Given the description of an element on the screen output the (x, y) to click on. 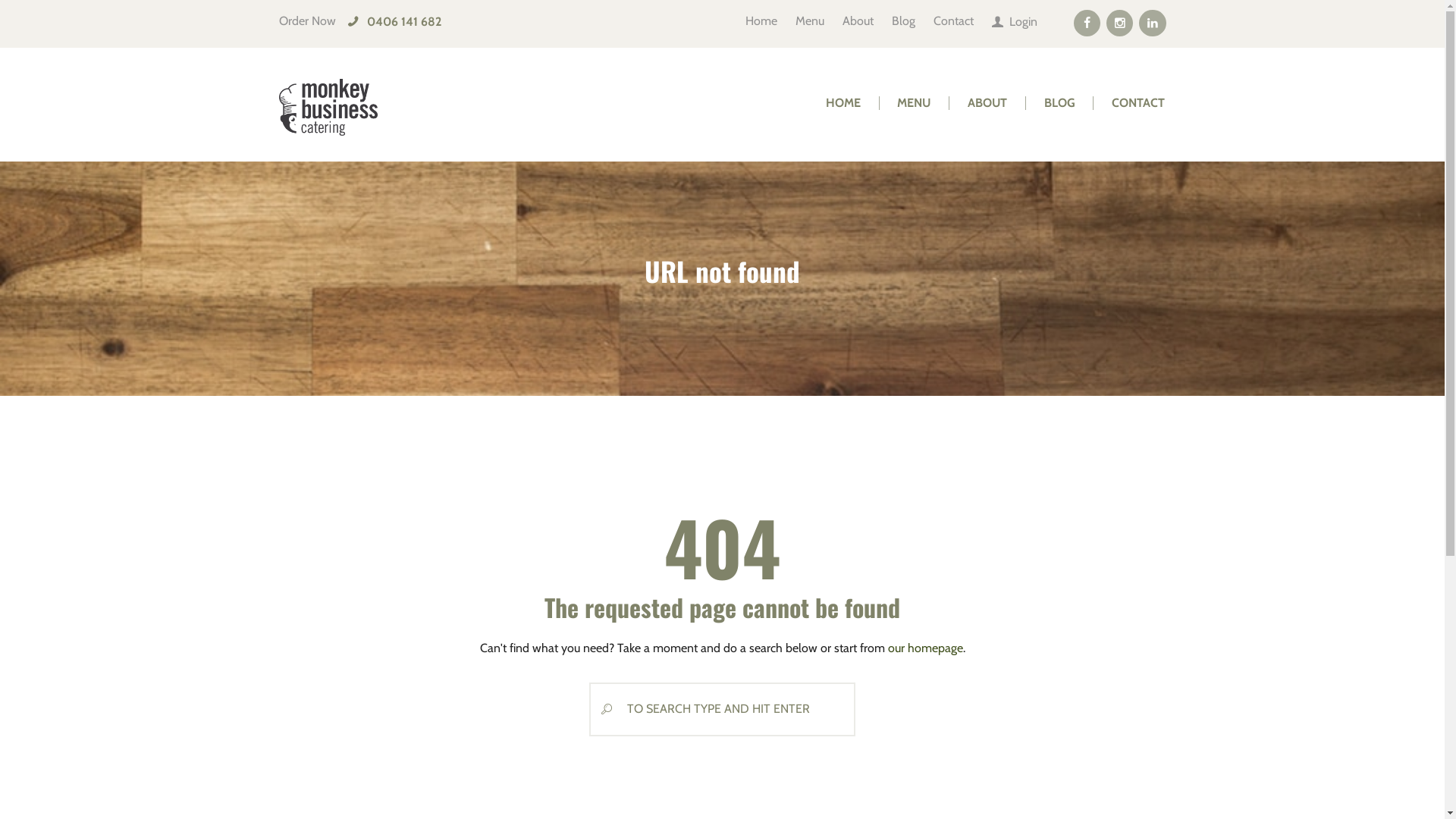
Home Element type: text (761, 15)
About Element type: text (857, 15)
HOME Element type: text (842, 102)
MENU Element type: text (913, 102)
BLOG Element type: text (1059, 102)
Login Element type: text (1014, 15)
CONTACT Element type: text (1138, 102)
Menu Element type: text (809, 15)
Start search Element type: hover (602, 709)
ABOUT Element type: text (987, 102)
Contact Element type: text (953, 15)
Blog Element type: text (903, 15)
our homepage Element type: text (924, 647)
